Given the description of an element on the screen output the (x, y) to click on. 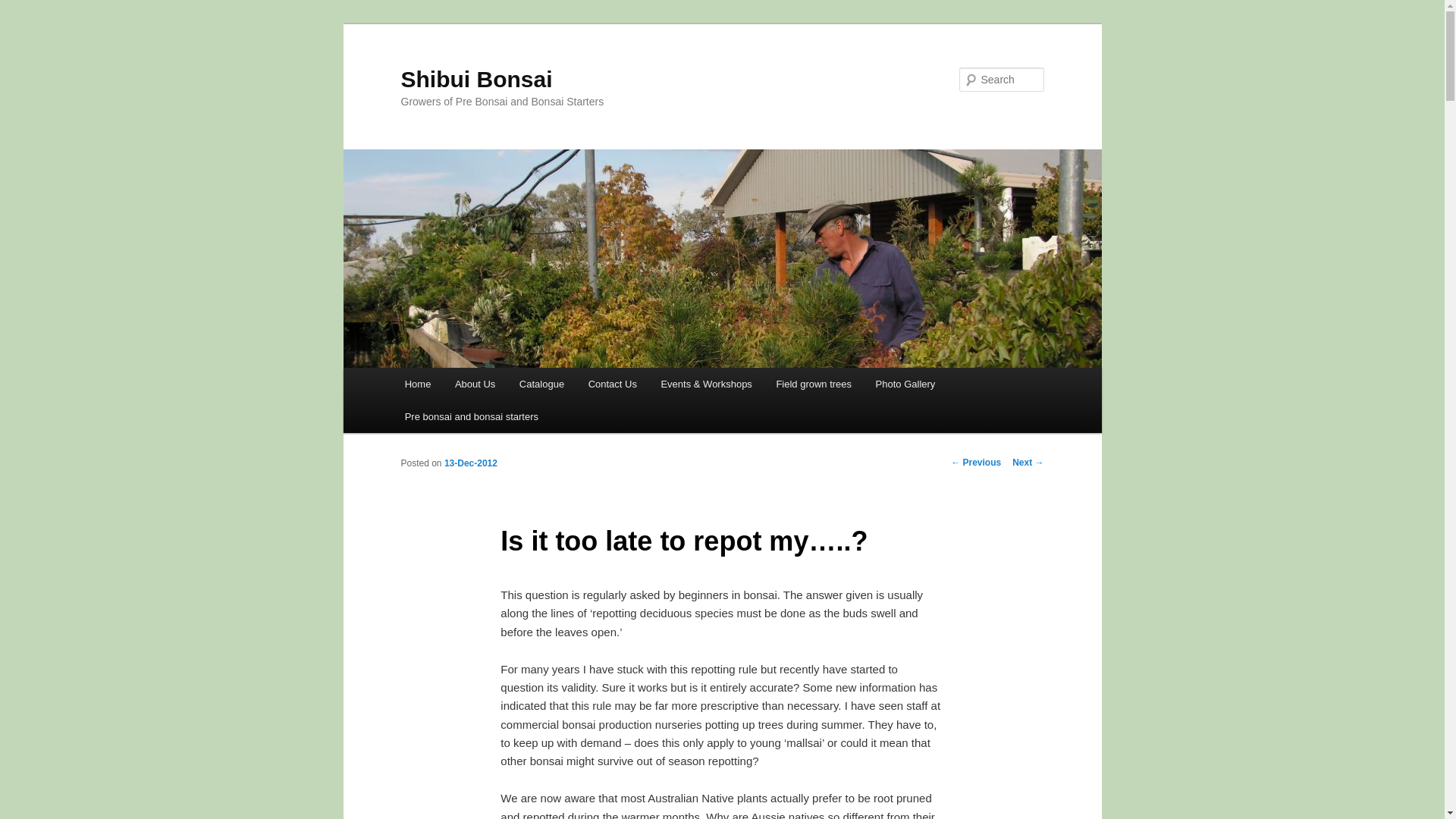
About Us (474, 383)
Search (24, 8)
Field grown trees (813, 383)
13-Dec-2012 (470, 462)
Shibui Bonsai (475, 78)
Contact Us (612, 383)
Photo Gallery (905, 383)
Home (417, 383)
9:52 pm (470, 462)
